Given the description of an element on the screen output the (x, y) to click on. 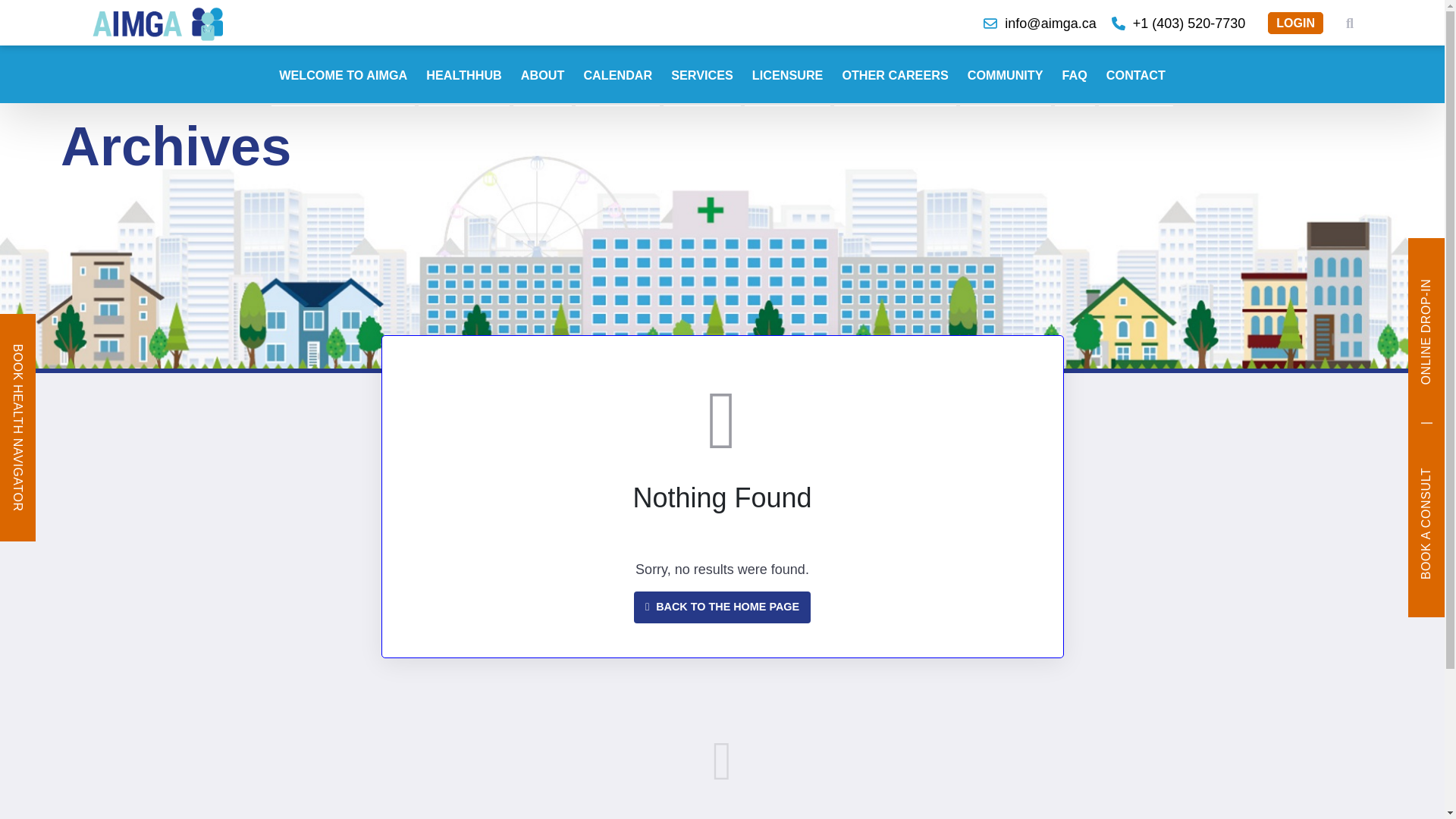
LICENSURE (787, 75)
ABOUT (542, 75)
WELCOME TO AIMGA (342, 75)
CONTACT (1136, 75)
FAQ (1074, 75)
HEALTHHUB (464, 75)
Login (1295, 23)
CALENDAR (617, 75)
OTHER CAREERS (894, 75)
COMMUNITY (1005, 75)
SERVICES (702, 75)
